Given the description of an element on the screen output the (x, y) to click on. 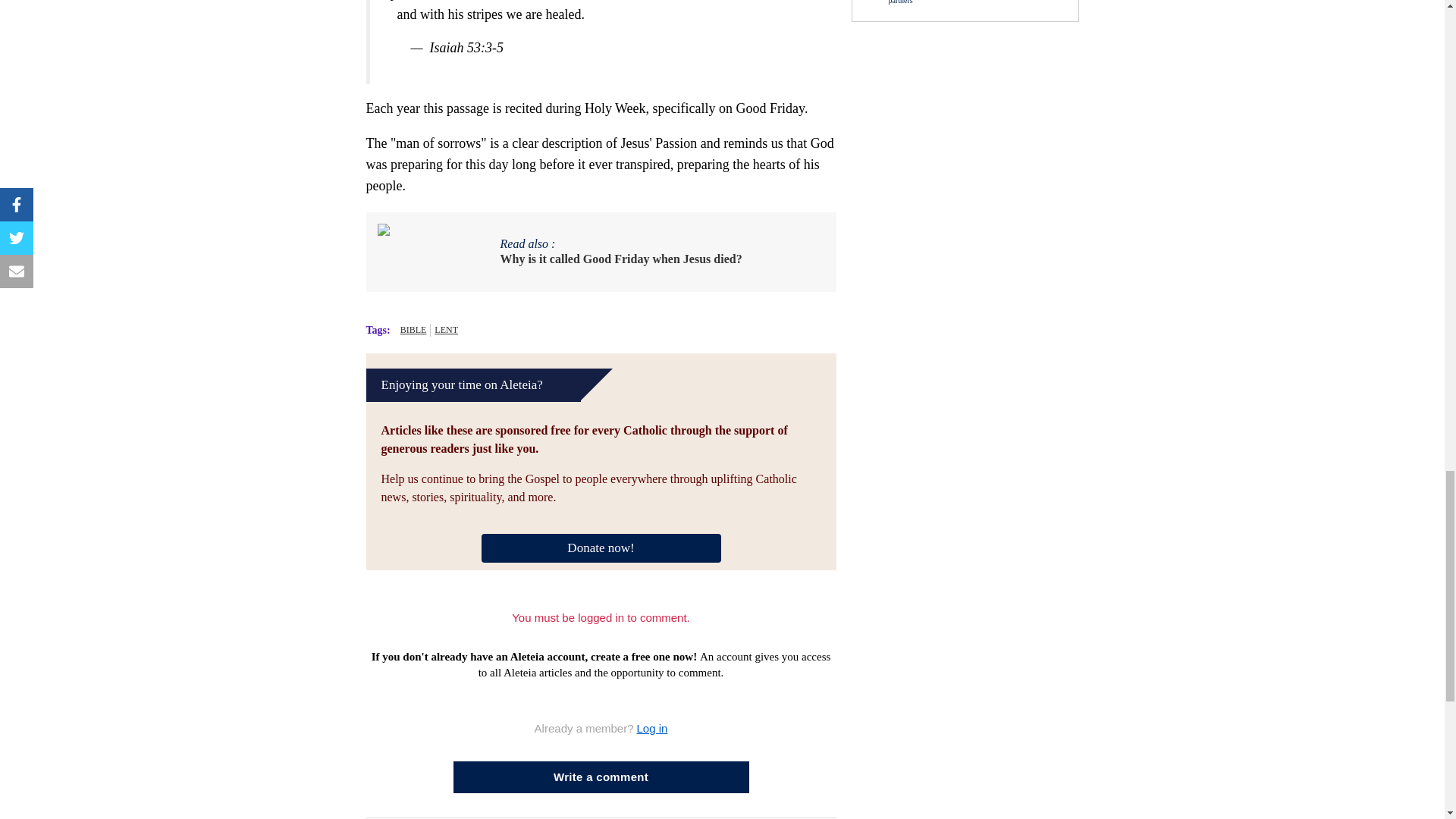
Why is it called Good Friday when Jesus died? (621, 258)
BIBLE (413, 329)
